Given the description of an element on the screen output the (x, y) to click on. 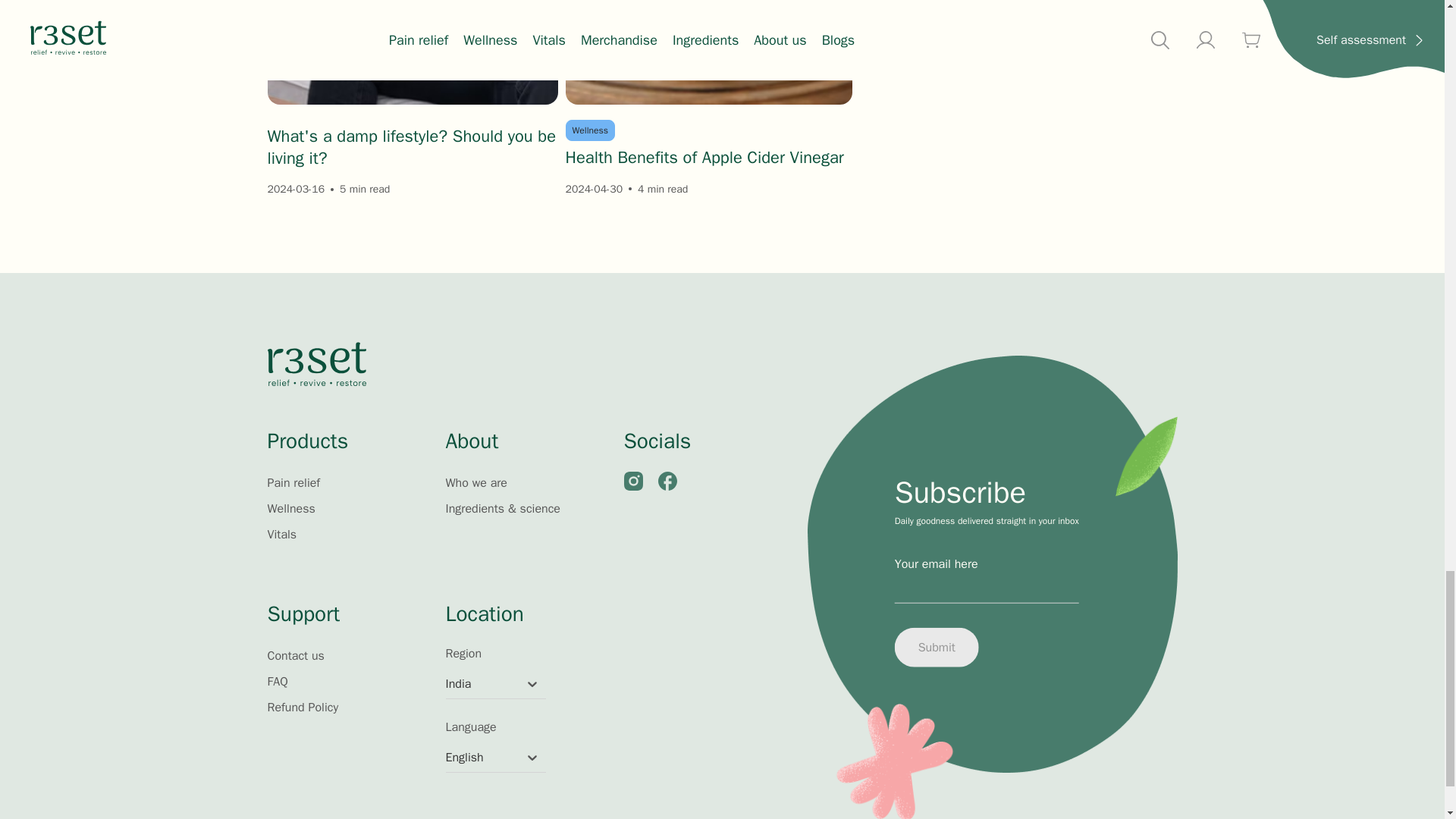
Who we are (475, 482)
Contact us (294, 655)
FAQ (276, 681)
Products (347, 445)
Refund Policy (301, 707)
Submit (936, 647)
Wellness (290, 508)
Vitals (281, 534)
Support (347, 618)
Pain relief (293, 482)
About (526, 445)
